Given the description of an element on the screen output the (x, y) to click on. 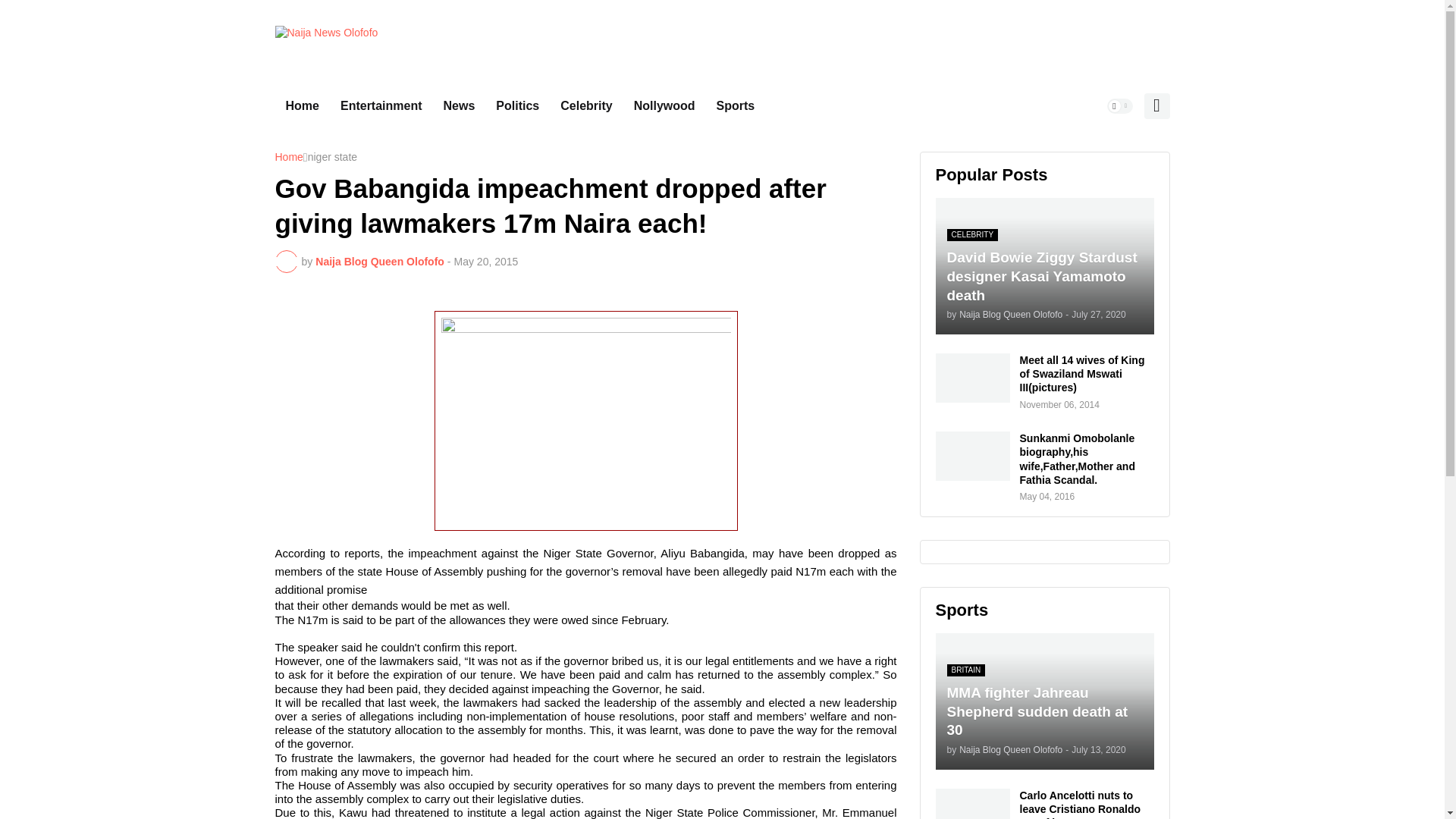
Politics (517, 105)
Home (302, 105)
Sports (735, 105)
Nollywood (664, 105)
David Bowie Ziggy Stardust designer Kasai Yamamoto death (1045, 266)
niger state (331, 157)
Home (288, 157)
Naija News Olofofo (326, 41)
